Given the description of an element on the screen output the (x, y) to click on. 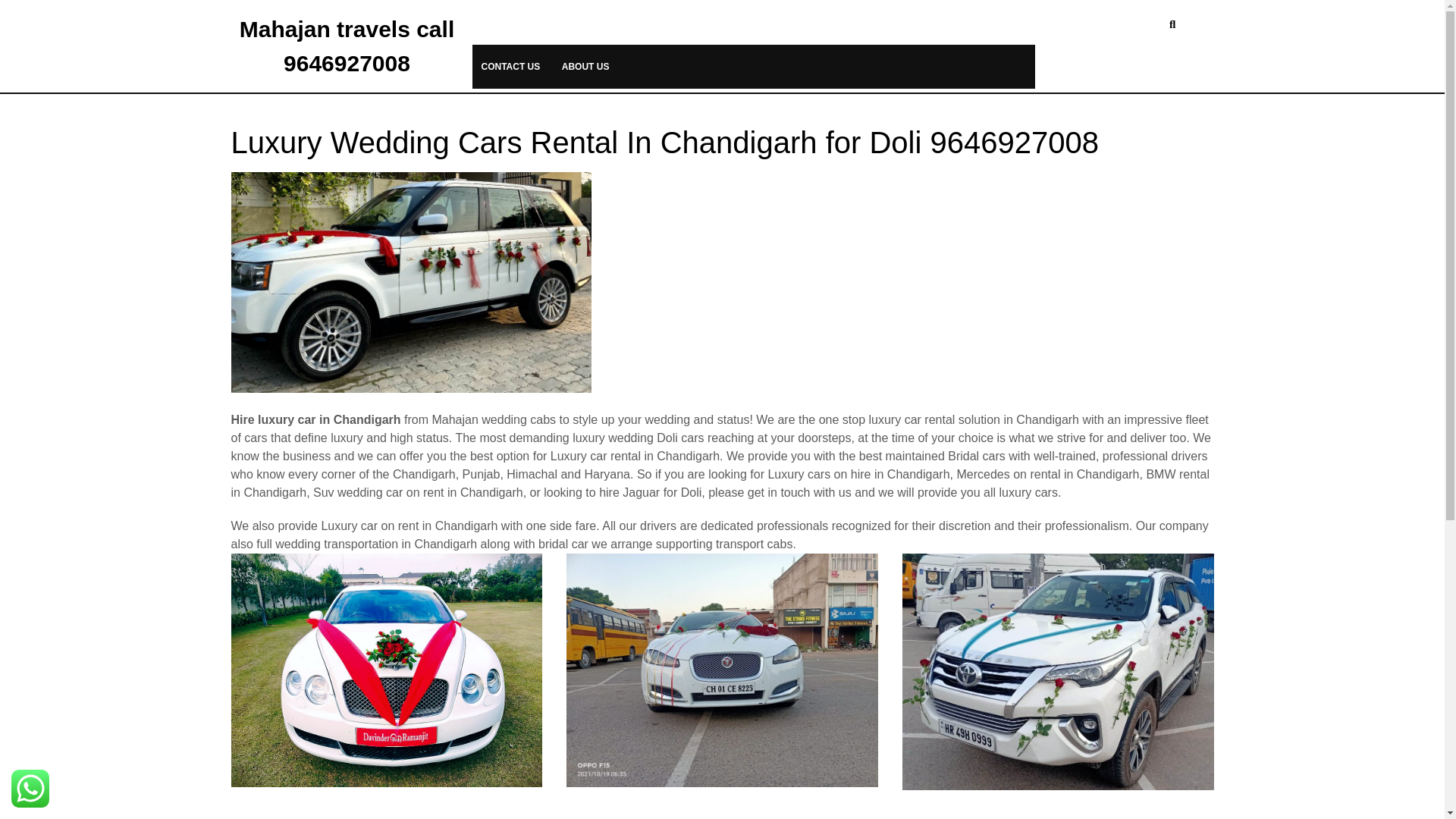
ABOUT US (585, 66)
CONTACT US (509, 66)
Mahajan travels call 9646927008 (347, 46)
